Given the description of an element on the screen output the (x, y) to click on. 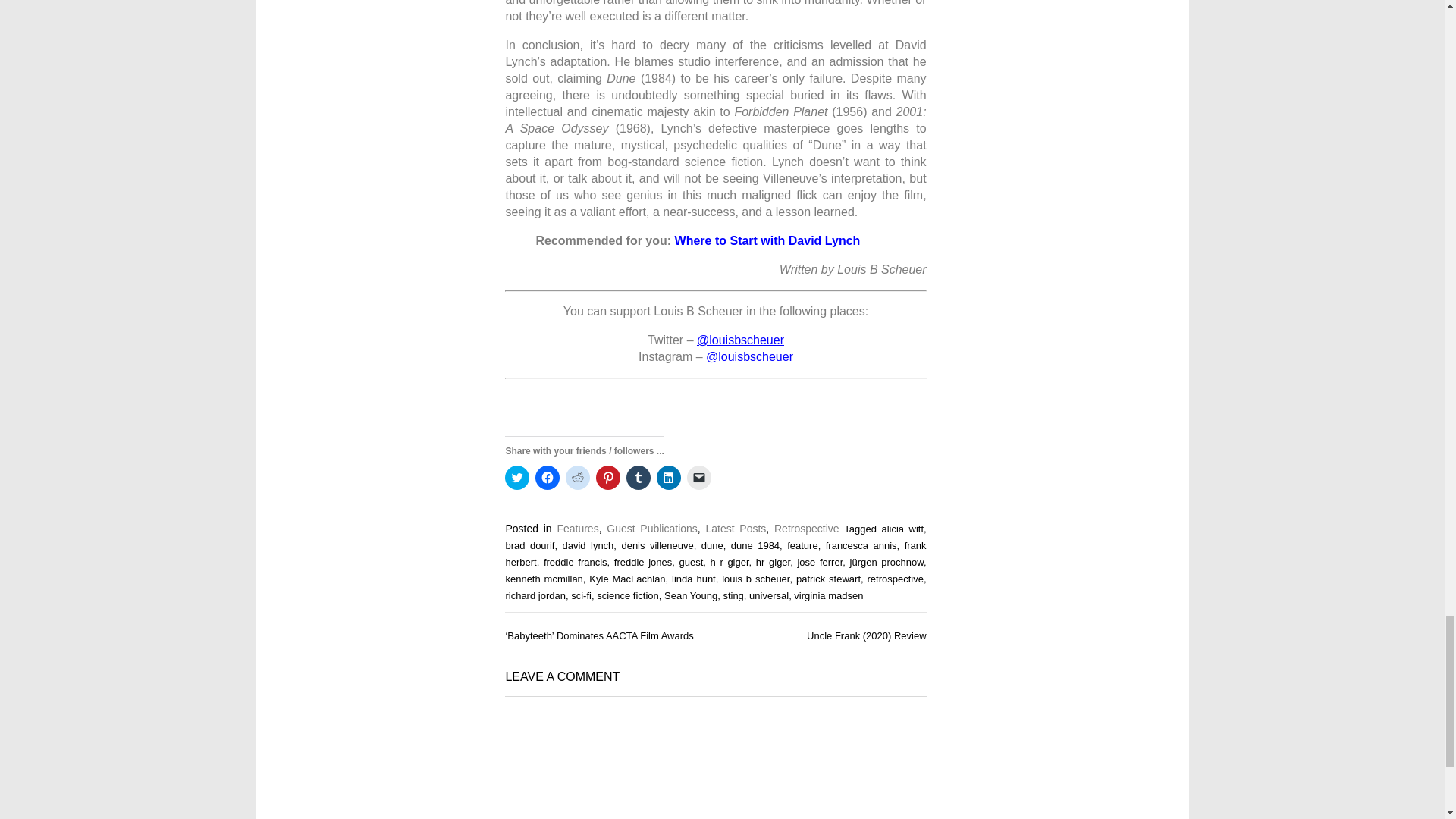
Click to email a link to a friend (699, 477)
Click to share on LinkedIn (668, 477)
Click to share on Pinterest (607, 477)
Comment Form (715, 763)
Click to share on Tumblr (638, 477)
Click to share on Facebook (547, 477)
Click to share on Twitter (517, 477)
Click to share on Reddit (577, 477)
